Given the description of an element on the screen output the (x, y) to click on. 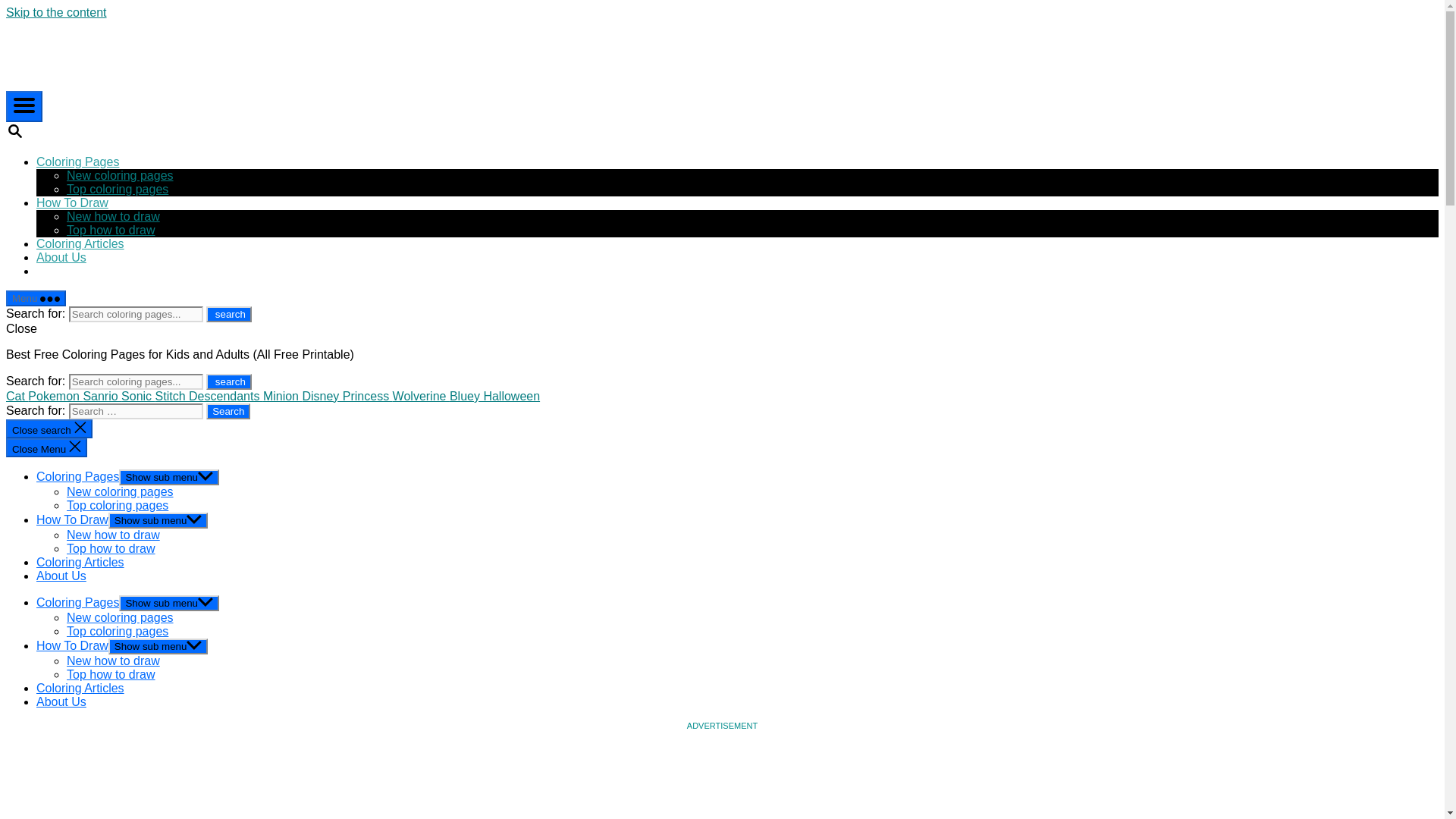
Disney Princess (346, 395)
Menu (35, 298)
Wolverine (421, 395)
Search (228, 411)
New how to draw (113, 215)
Stitch (172, 395)
About Us (60, 256)
New how to draw (113, 534)
Sanrio Coloring Pages (101, 395)
Close Menu (46, 447)
